Given the description of an element on the screen output the (x, y) to click on. 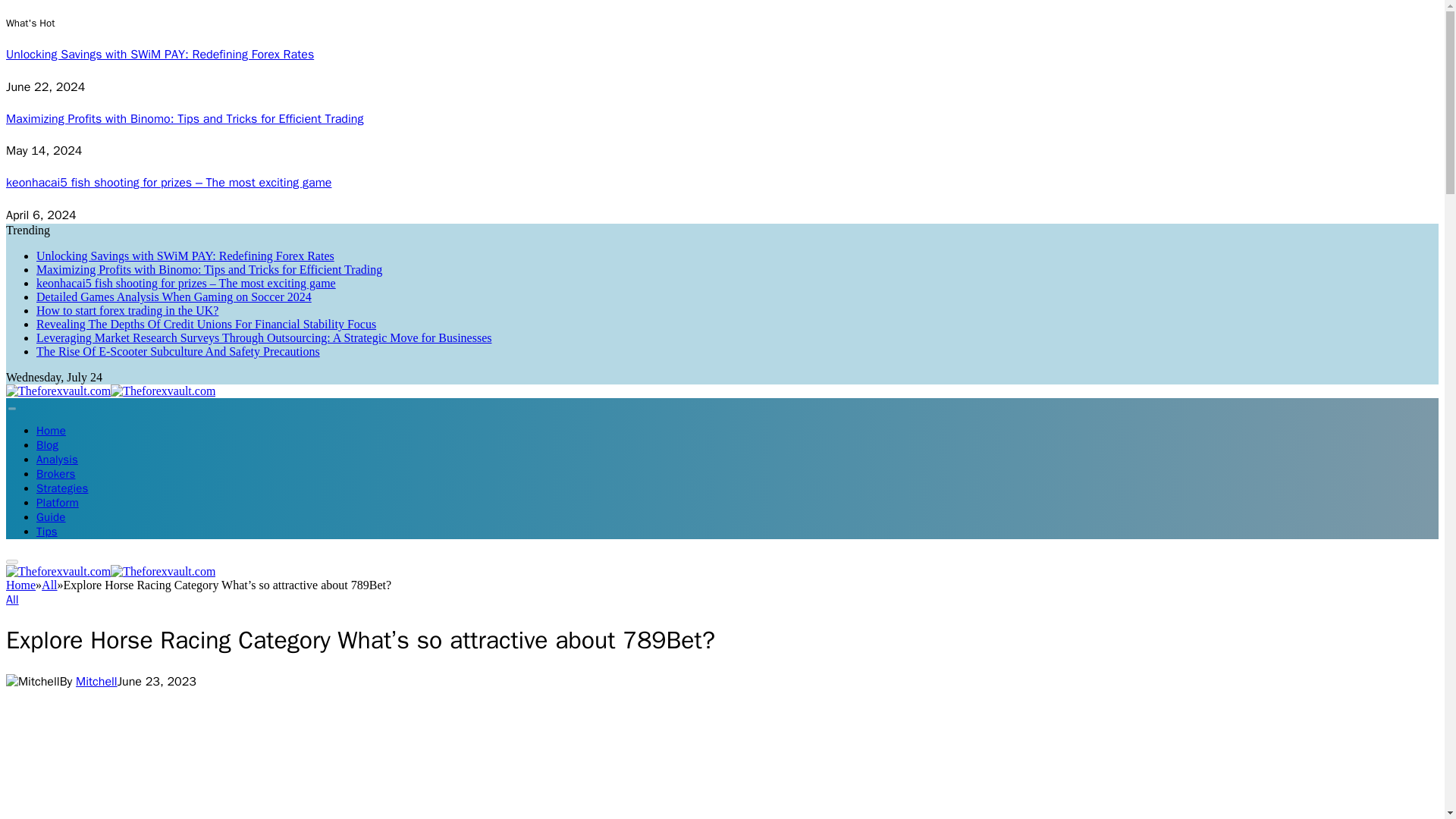
The Rise Of E-Scooter Subculture And Safety Precautions (178, 350)
Posts by Mitchell (96, 681)
All (49, 584)
Theforexvault.com (110, 571)
Detailed Games Analysis When Gaming on Soccer 2024 (173, 296)
Unlocking Savings with SWiM PAY: Redefining Forex Rates (185, 255)
Home (19, 584)
Tips (47, 531)
All (11, 599)
Analysis (57, 459)
Guide (50, 517)
How to start forex trading in the UK? (127, 309)
